Given the description of an element on the screen output the (x, y) to click on. 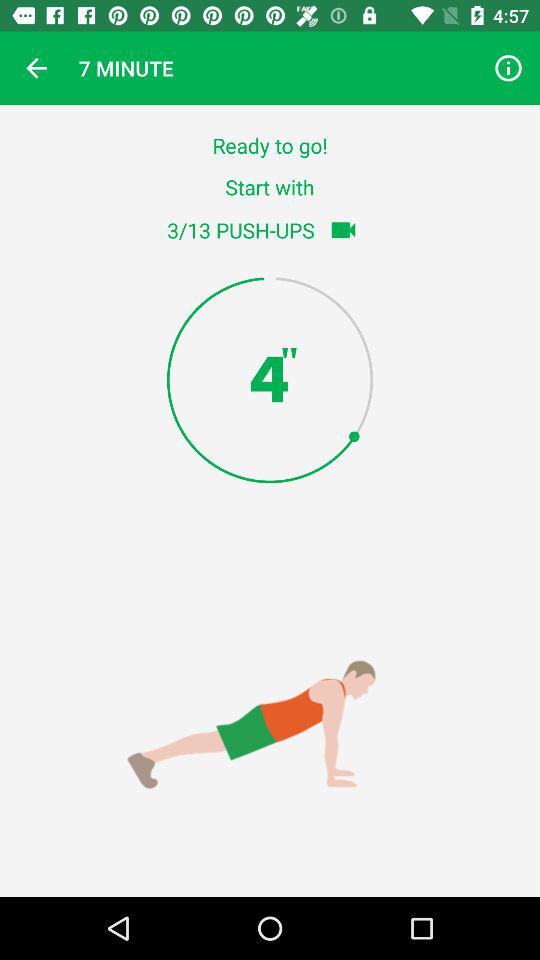
press the item above ready to go! item (36, 68)
